Given the description of an element on the screen output the (x, y) to click on. 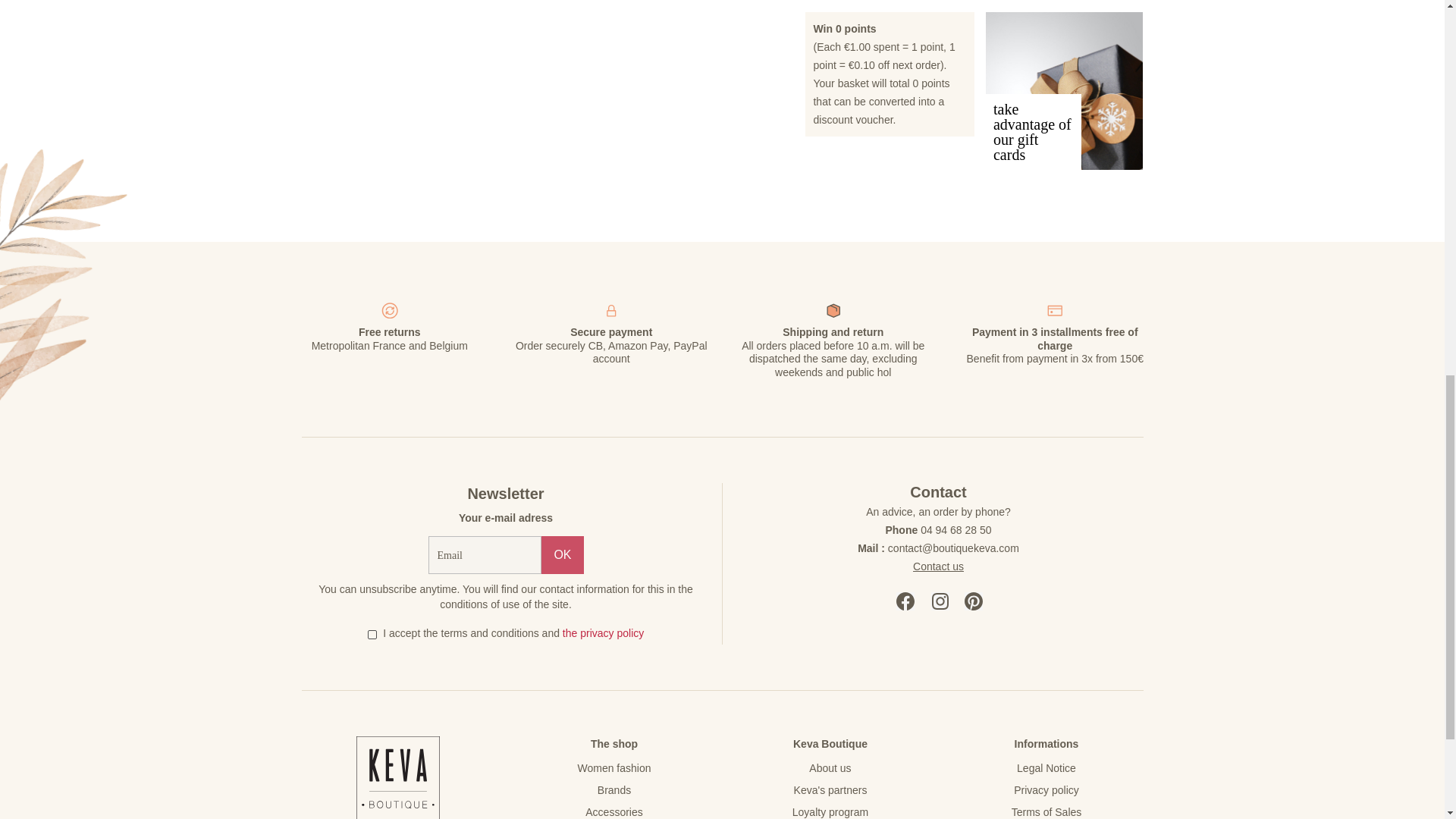
Ok (562, 555)
